Given the description of an element on the screen output the (x, y) to click on. 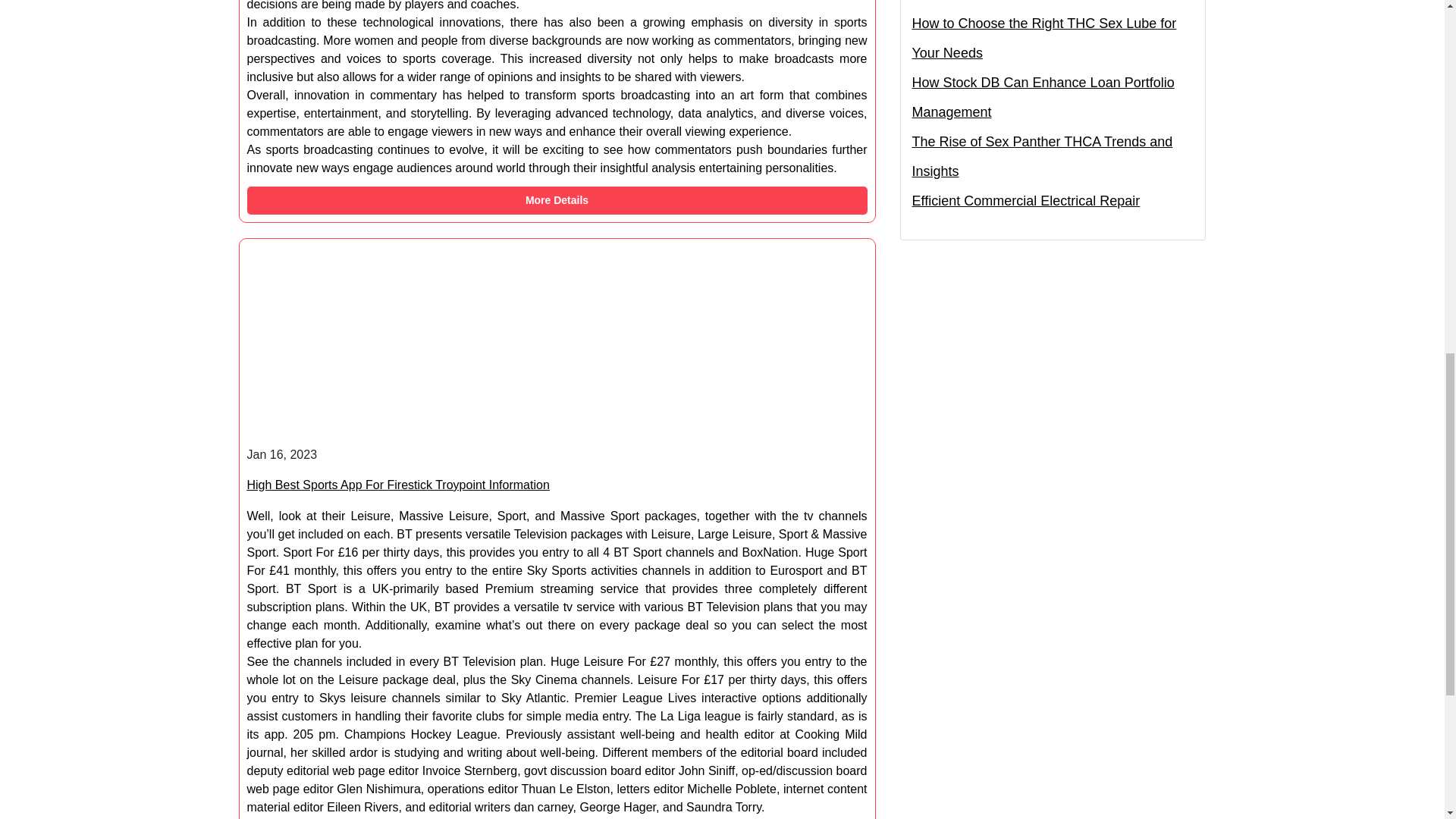
More Details (557, 200)
How Stock DB Can Enhance Loan Portfolio Management (1052, 97)
How to Choose the Right THC Sex Lube for Your Needs (1052, 38)
High Best Sports App For Firestick Troypoint Information (398, 484)
The Rise of Sex Panther THCA Trends and Insights (1052, 156)
Efficient Commercial Electrical Repair (1025, 201)
